Given the description of an element on the screen output the (x, y) to click on. 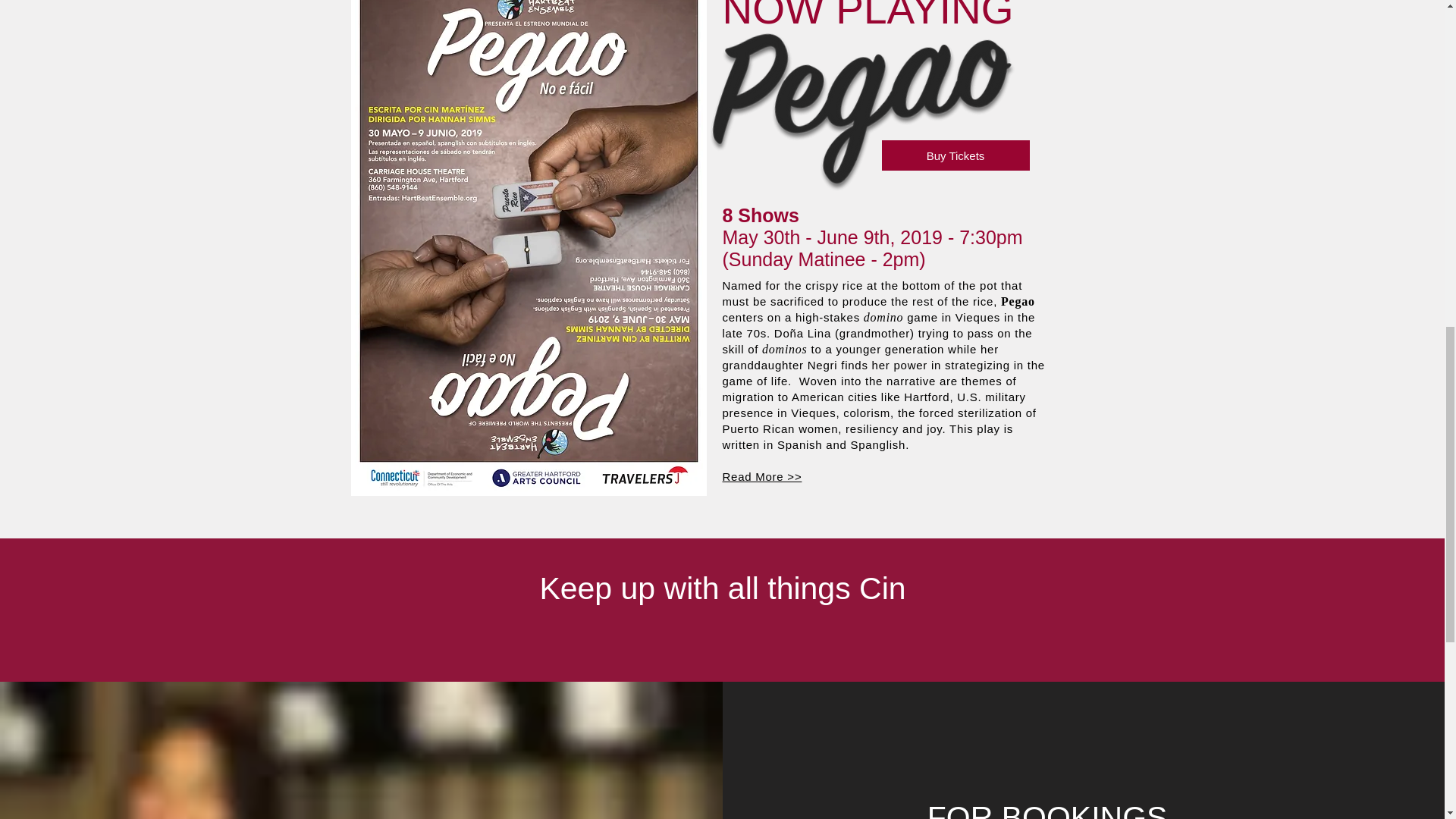
Buy Tickets (954, 155)
